Given the description of an element on the screen output the (x, y) to click on. 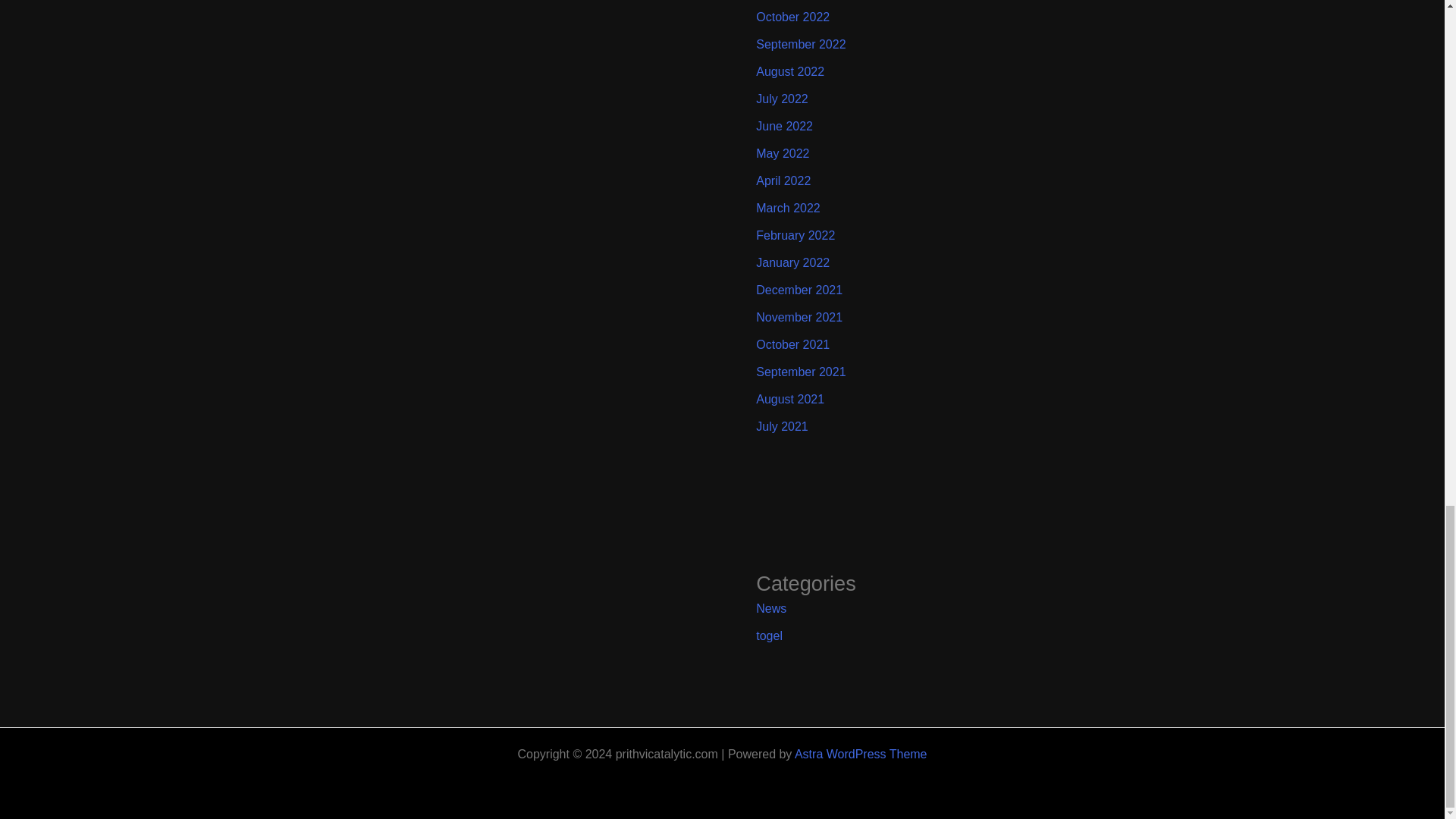
September 2022 (800, 43)
October 2022 (792, 16)
